Given the description of an element on the screen output the (x, y) to click on. 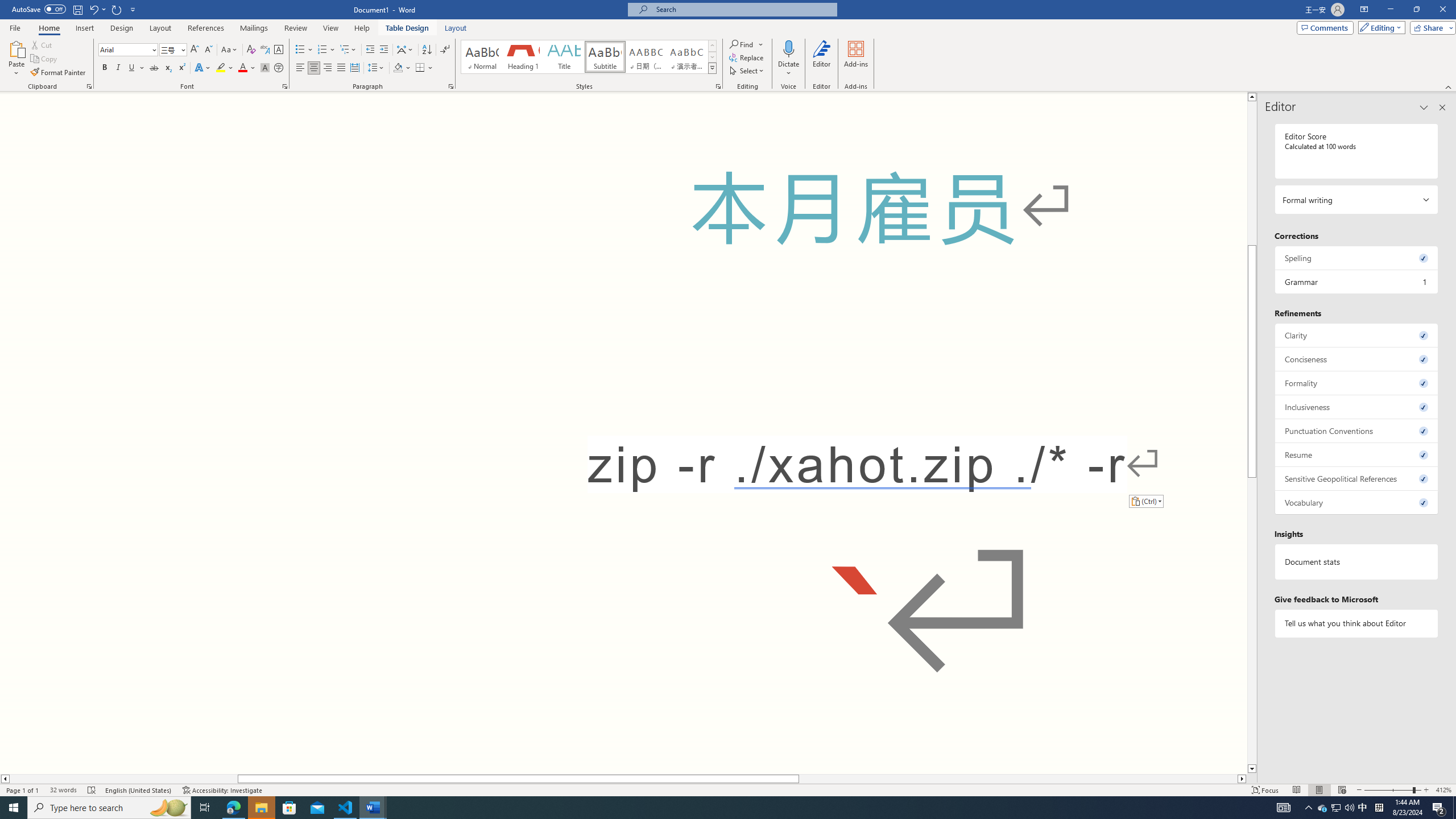
Font... (285, 85)
Class: NetUIScrollBar (623, 778)
Spelling and Grammar Check Errors (91, 790)
Editing (1379, 27)
Shading (402, 67)
Font Color Red (241, 67)
Center (313, 67)
Page Number Page 1 of 1 (22, 790)
Format Painter (58, 72)
